Given the description of an element on the screen output the (x, y) to click on. 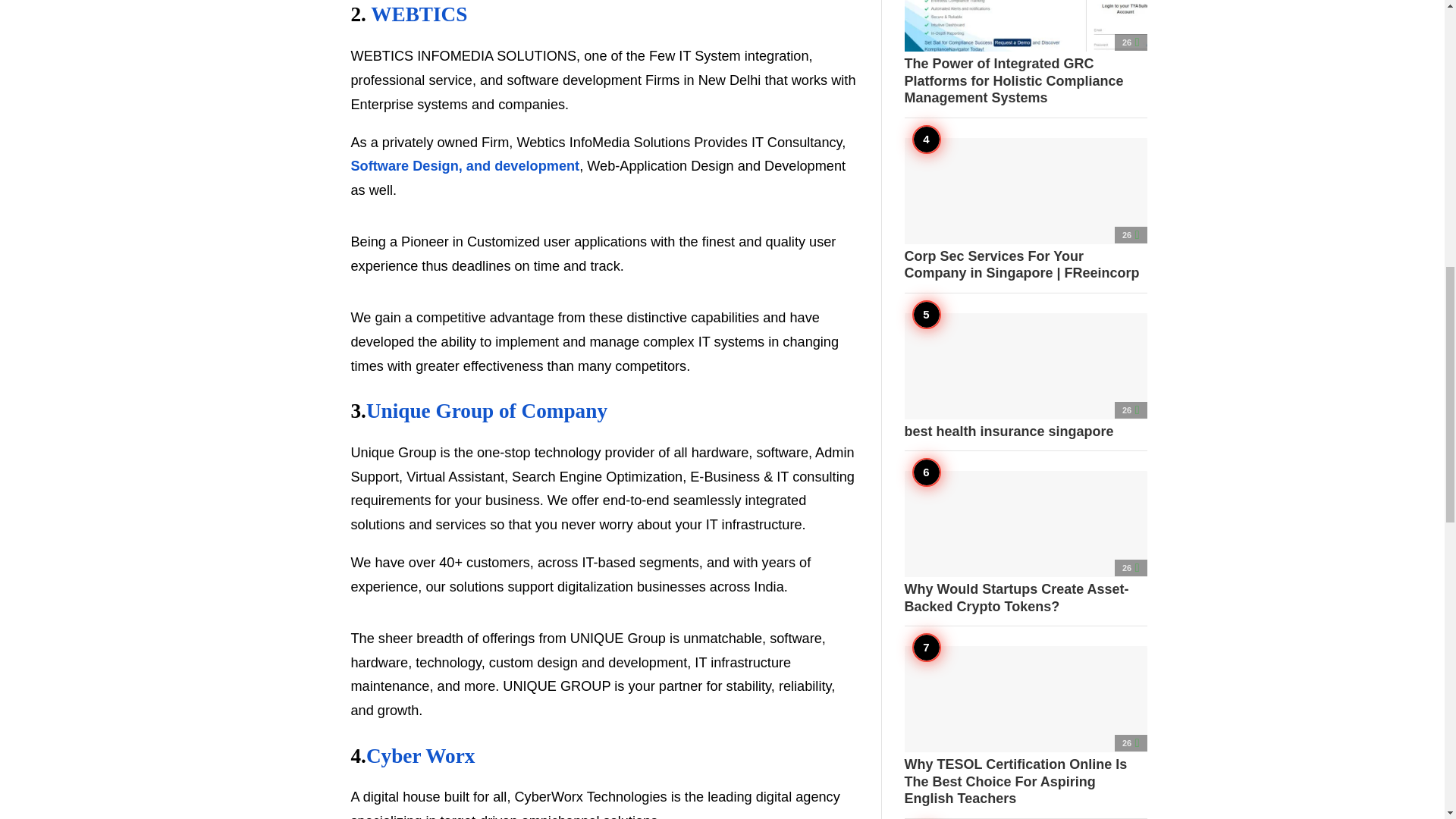
best health insurance singapore (1025, 375)
Why Would Startups Create Asset-Backed Crypto Tokens? (1025, 542)
